Given the description of an element on the screen output the (x, y) to click on. 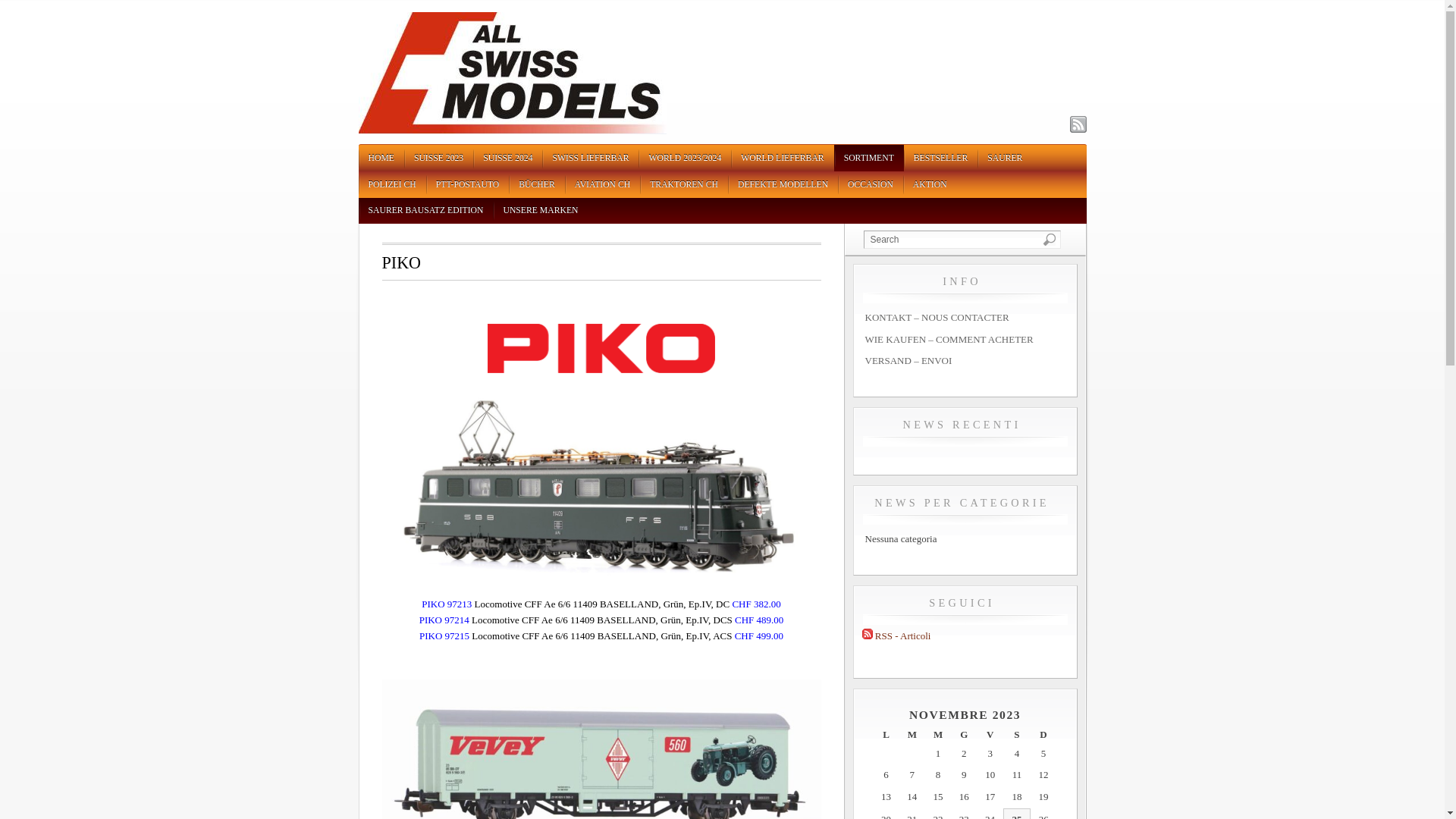
BESTSELLER Element type: text (940, 157)
HOME Element type: text (380, 157)
PTT-POSTAUTO Element type: text (467, 184)
SAURER BAUSATZ EDITION Element type: text (424, 210)
DEFEKTE MODELLEN Element type: text (782, 184)
TRAKTOREN CH Element type: text (684, 184)
WORLD LIEFERBAR Element type: text (782, 157)
SWISS LIEFERBAR Element type: text (590, 157)
AVIATION CH Element type: text (602, 184)
 RSS - Articoli Element type: text (895, 635)
ALL SWISS MODELS Element type: hover (511, 130)
SAURER Element type: text (1004, 157)
OCCASION Element type: text (870, 184)
SUISSE 2024 Element type: text (507, 157)
WORLD 2023/2024 Element type: text (684, 157)
AKTION Element type: text (930, 184)
UNSERE MARKEN Element type: text (539, 210)
POLIZEI CH Element type: text (391, 184)
SUISSE 2023 Element type: text (438, 157)
SORTIMENT Element type: text (868, 157)
